Given the description of an element on the screen output the (x, y) to click on. 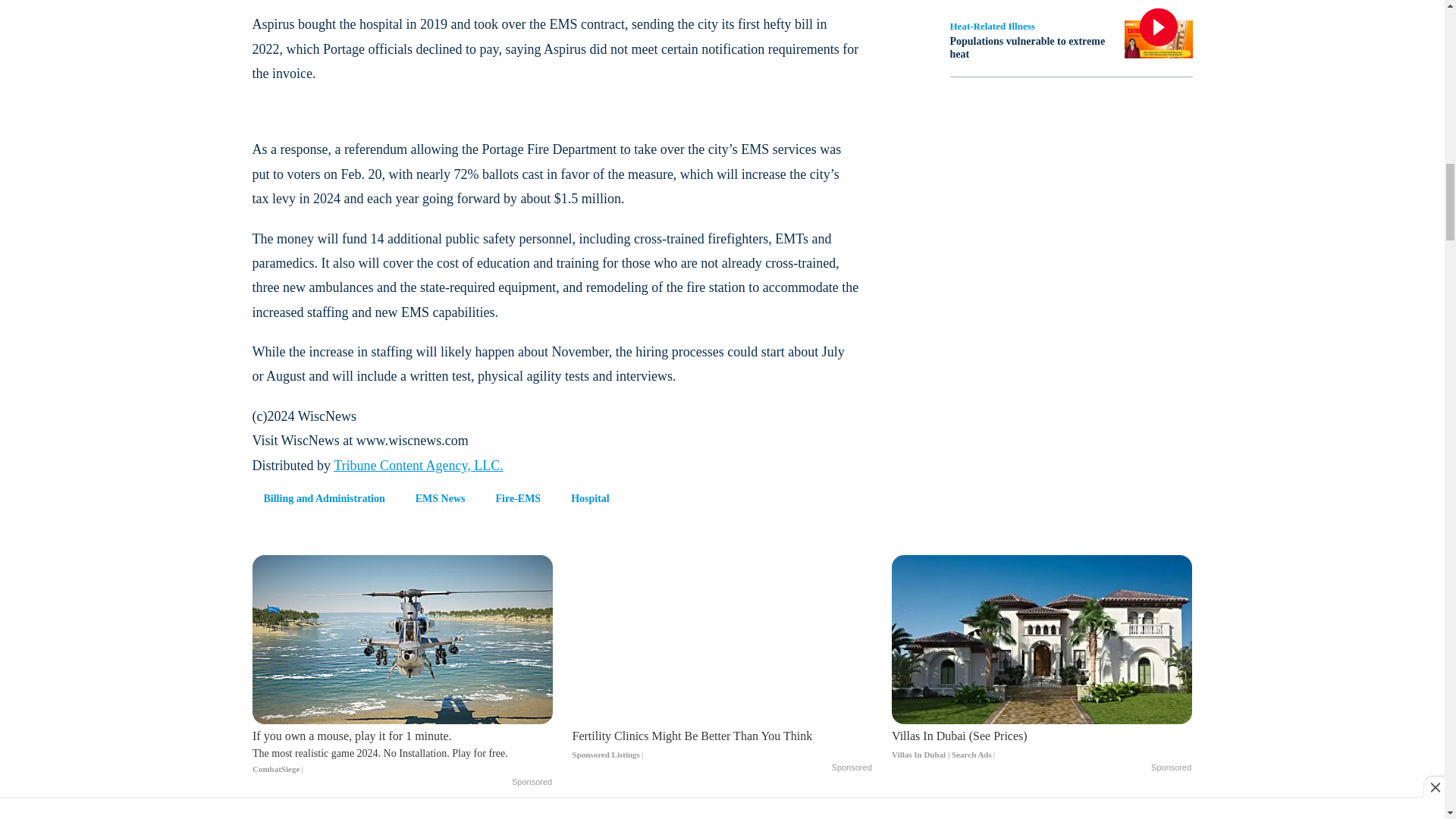
If you own a mouse, play it for 1 minute. (402, 752)
Fertility Clinics Might Be Better Than You Think (722, 745)
